Given the description of an element on the screen output the (x, y) to click on. 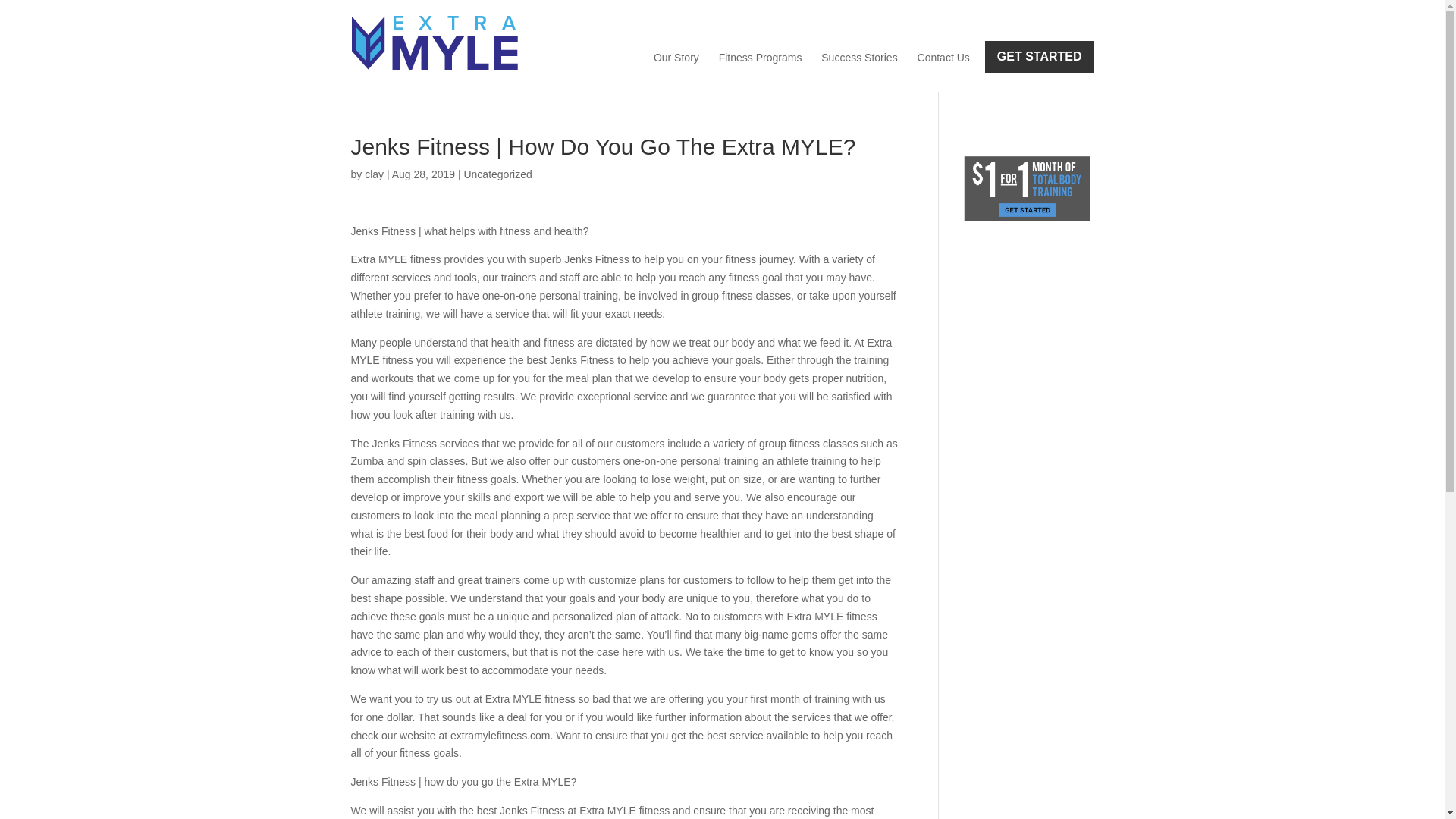
Contact Us (943, 57)
clay (374, 174)
GET STARTED (1039, 56)
Posts by clay (374, 174)
Success Stories (858, 57)
Fitness Programs (760, 57)
Our Story (675, 57)
